Given the description of an element on the screen output the (x, y) to click on. 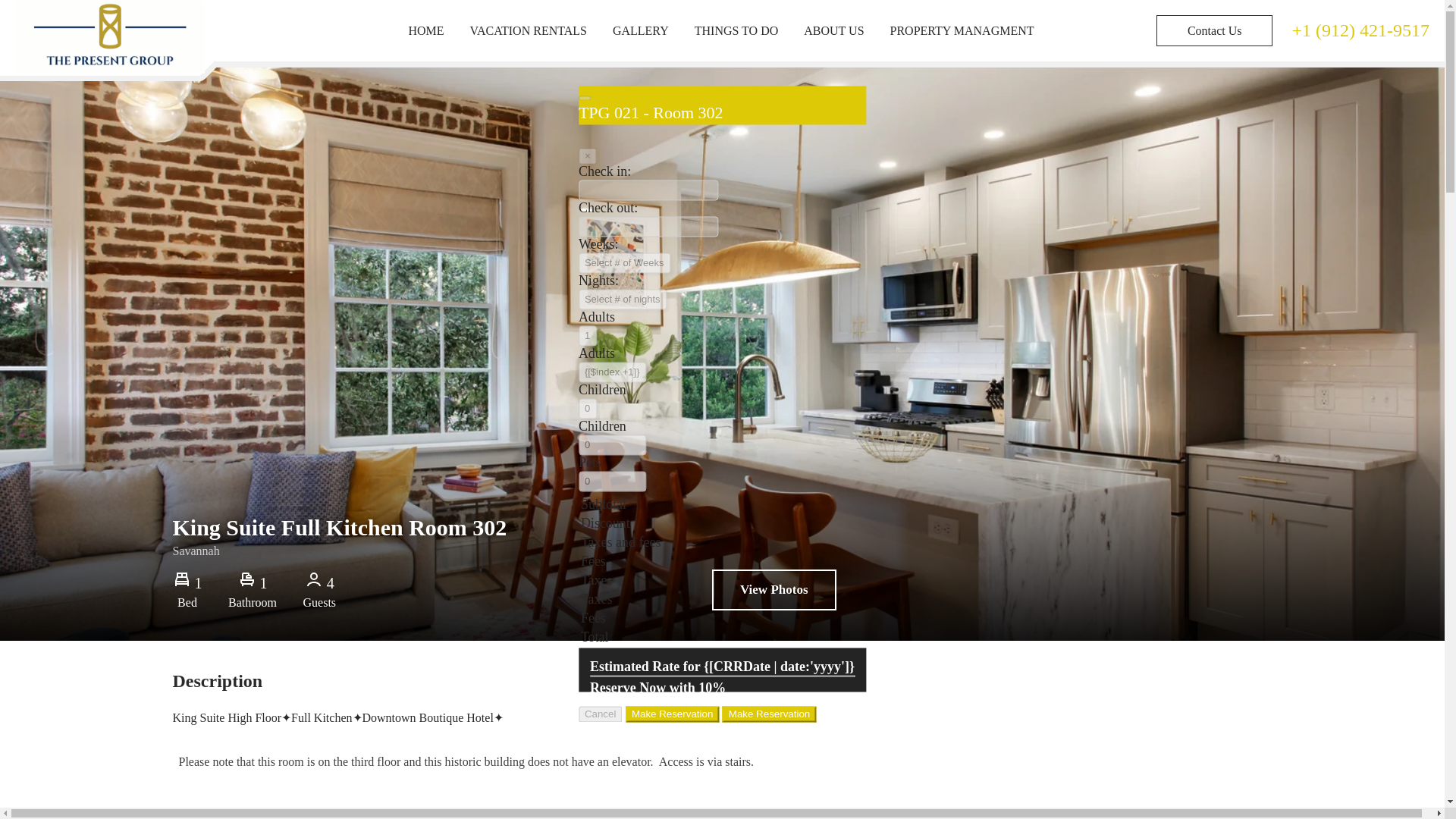
Make Reservation (672, 713)
Contact Us (1214, 30)
PROPERTY MANAGMENT (962, 30)
Cancel (600, 713)
VACATION RENTALS (527, 30)
ABOUT US (833, 30)
Make Reservation (768, 713)
THINGS TO DO (736, 30)
HOME (425, 30)
GALLERY (640, 30)
View Photos (773, 589)
